Given the description of an element on the screen output the (x, y) to click on. 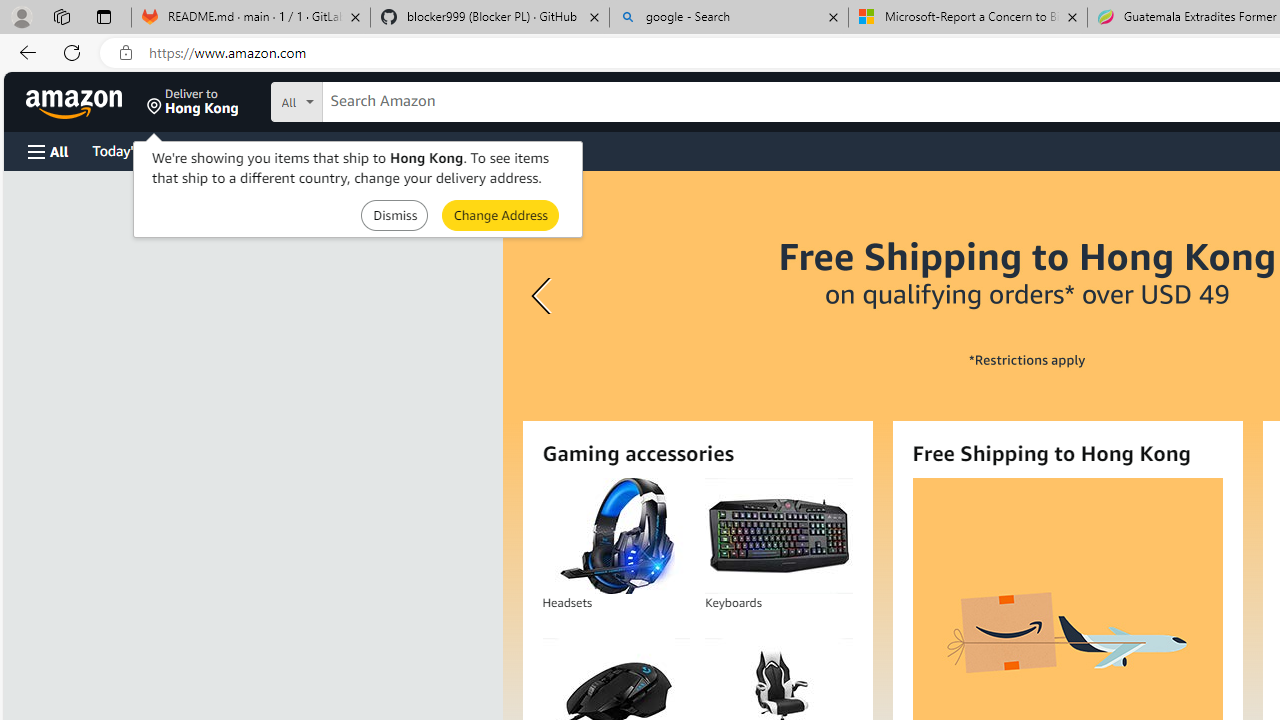
Keyboards (778, 536)
Sell (509, 150)
Submit (499, 214)
Amazon (76, 101)
Customer Service (256, 150)
Deliver to Hong Kong (193, 101)
